Given the description of an element on the screen output the (x, y) to click on. 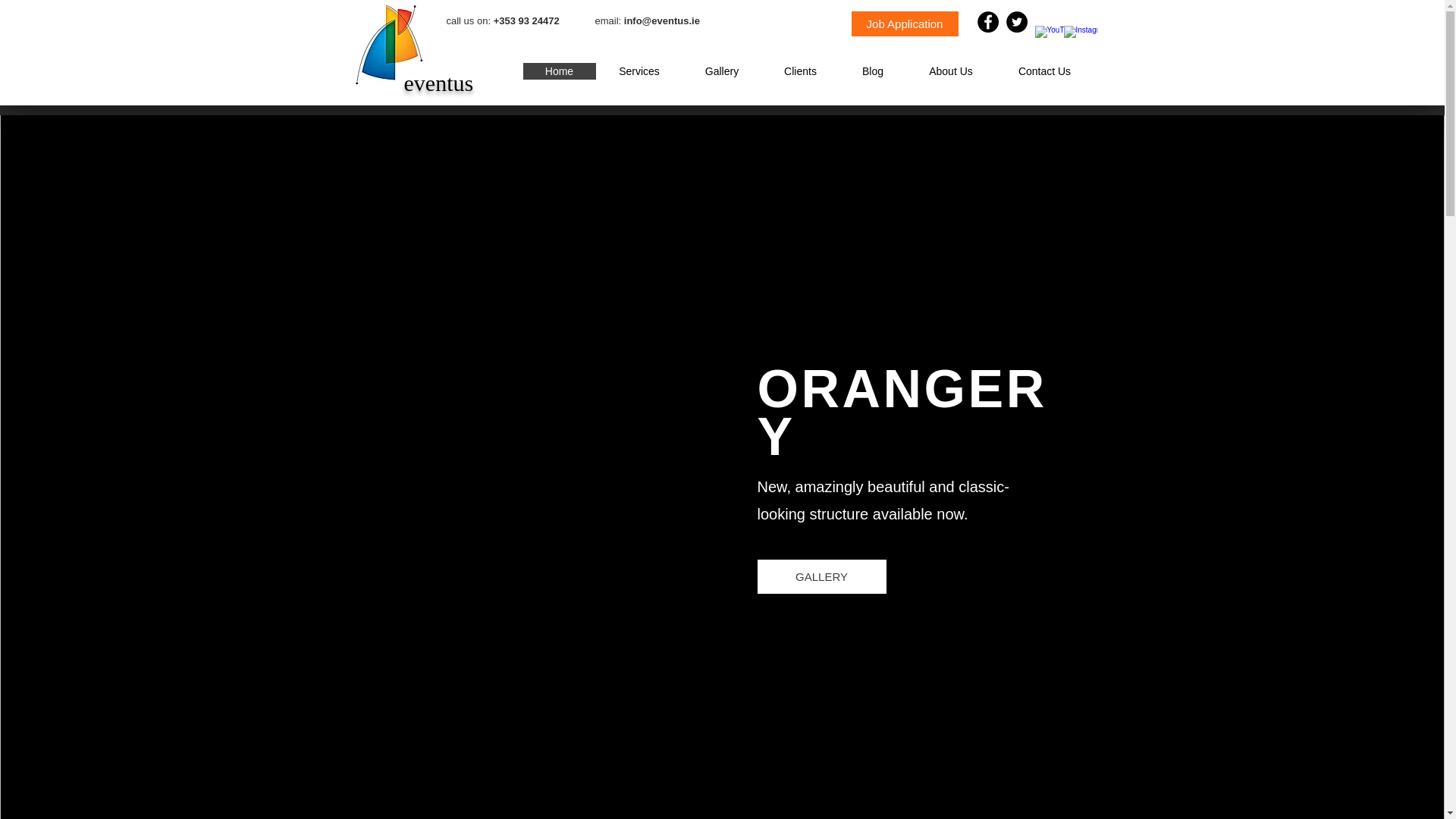
Clients (800, 71)
Blog (871, 71)
About Us (949, 71)
Contact Us (1043, 71)
Home (558, 71)
GALLERY (821, 576)
Job Application (904, 23)
Gallery (721, 71)
Services (638, 71)
